Given the description of an element on the screen output the (x, y) to click on. 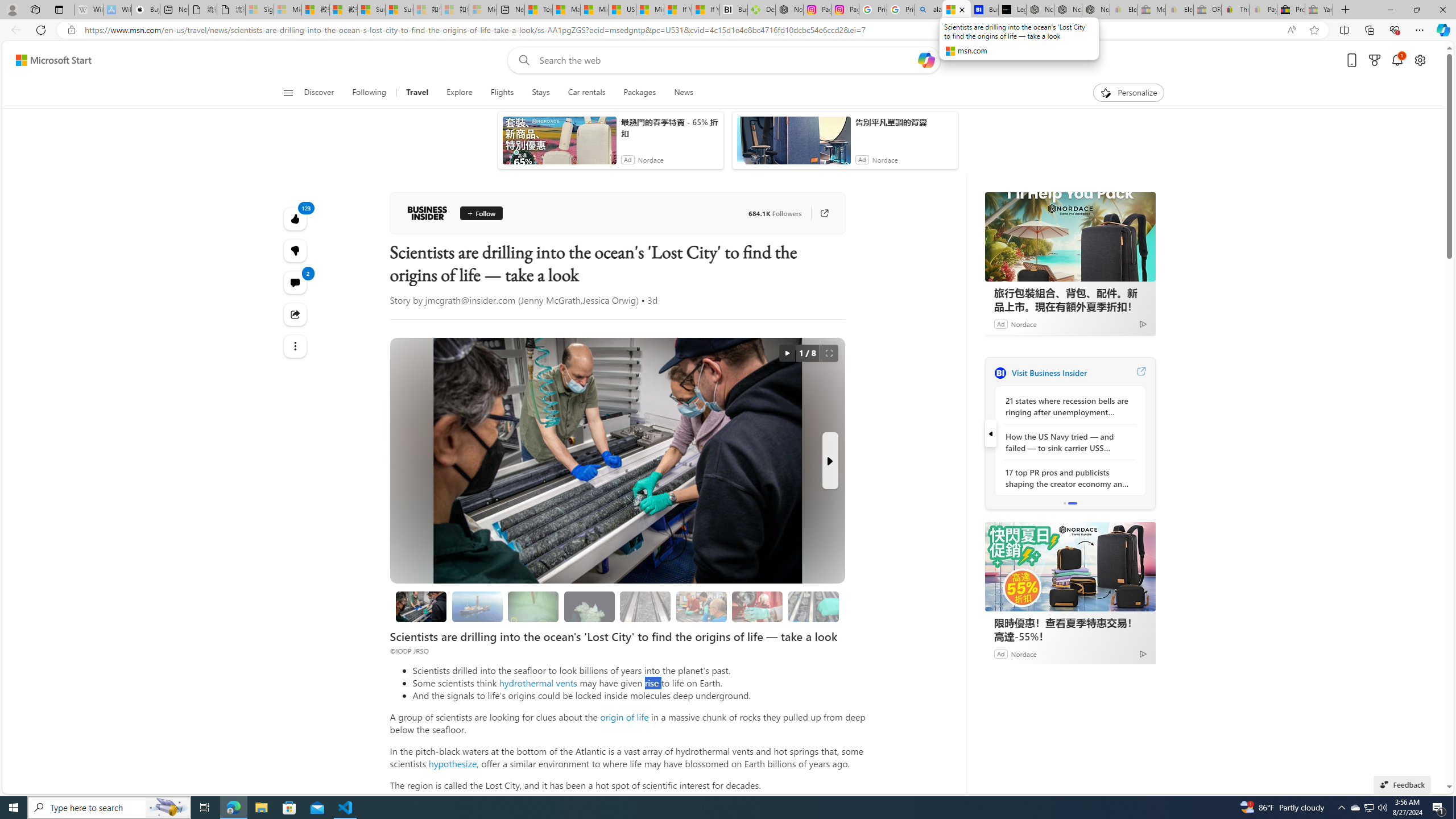
Looking for evidence of oxygen-free life (701, 606)
Next Slide (829, 460)
Class: progress (813, 604)
